Given the description of an element on the screen output the (x, y) to click on. 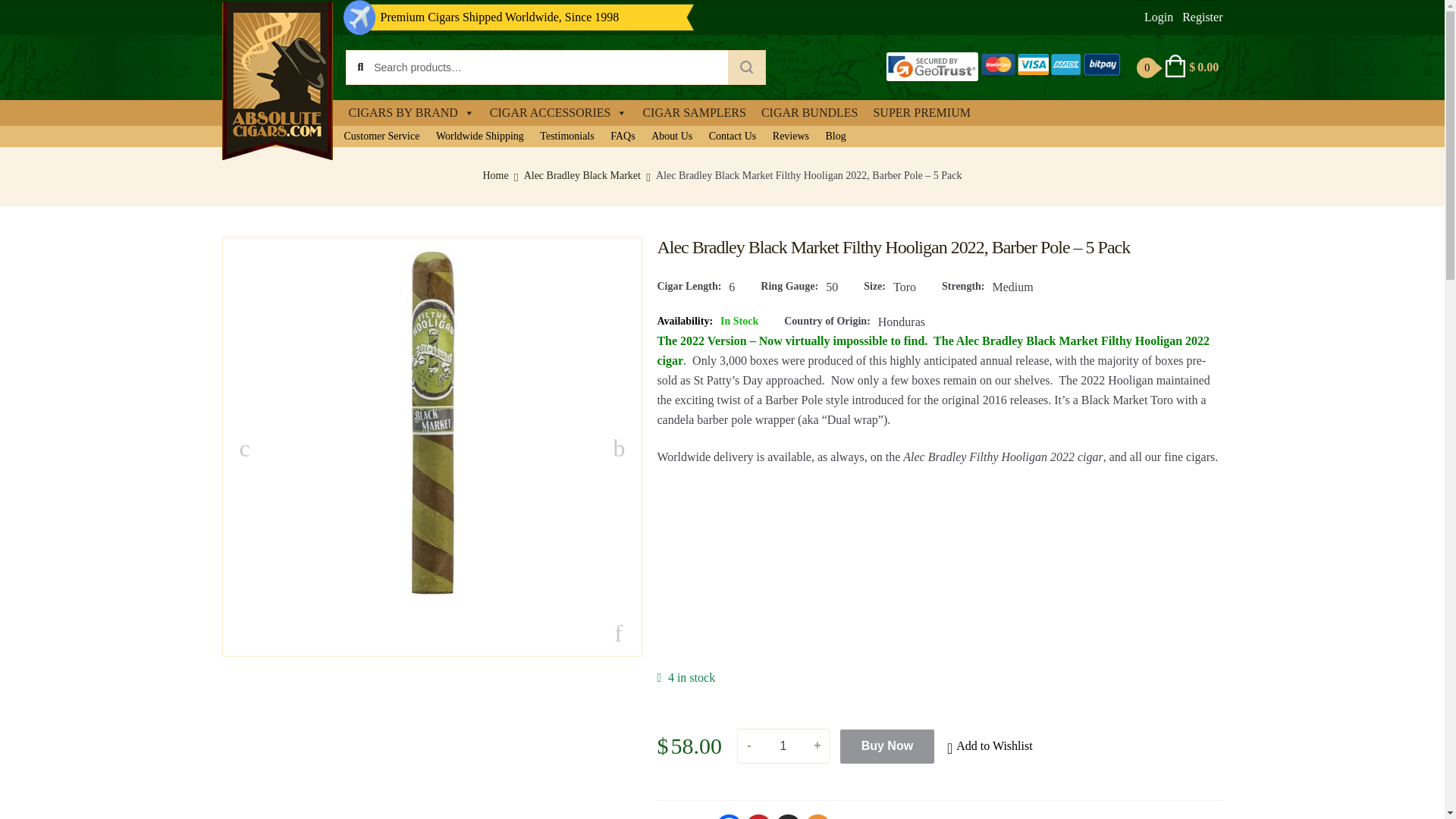
1 (783, 745)
Login (1158, 16)
- (749, 745)
 Register (1202, 16)
CIGARS BY BRAND (410, 112)
Register (1202, 16)
Login (1158, 16)
Pinterest (758, 816)
Search (746, 67)
View your shopping cart (1180, 67)
Facebook (729, 816)
alec-bradley-black-market-filthy-hooligan-2017-stick-b (432, 422)
Qty (783, 745)
